Given the description of an element on the screen output the (x, y) to click on. 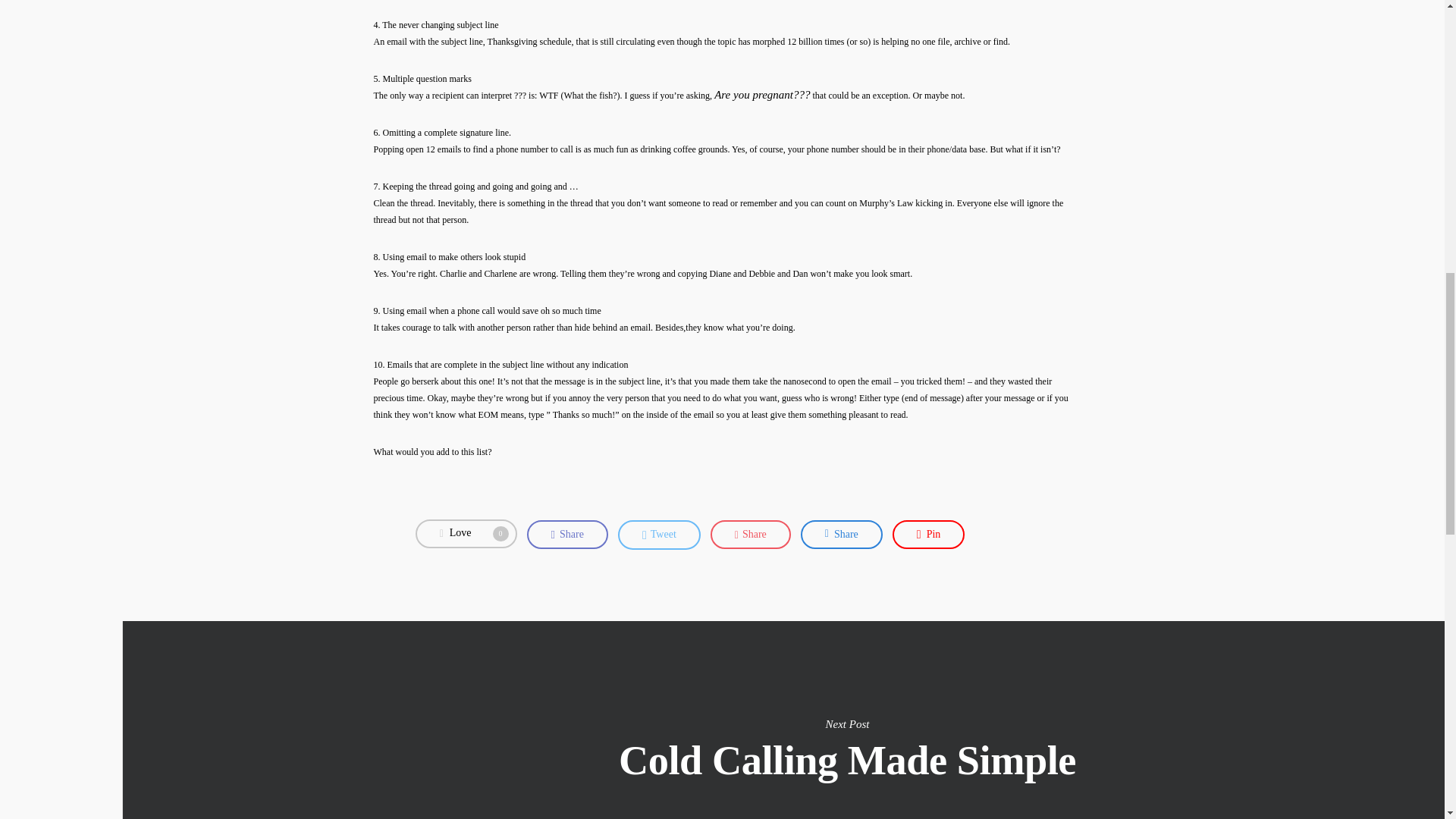
Pin (928, 534)
Share this (750, 534)
Tweet this (658, 535)
Pin this (928, 534)
Share (465, 533)
Share (567, 534)
Love this (841, 534)
Share this (465, 533)
Share (841, 534)
Tweet (750, 534)
Cold Calling Made Simple (658, 535)
